Given the description of an element on the screen output the (x, y) to click on. 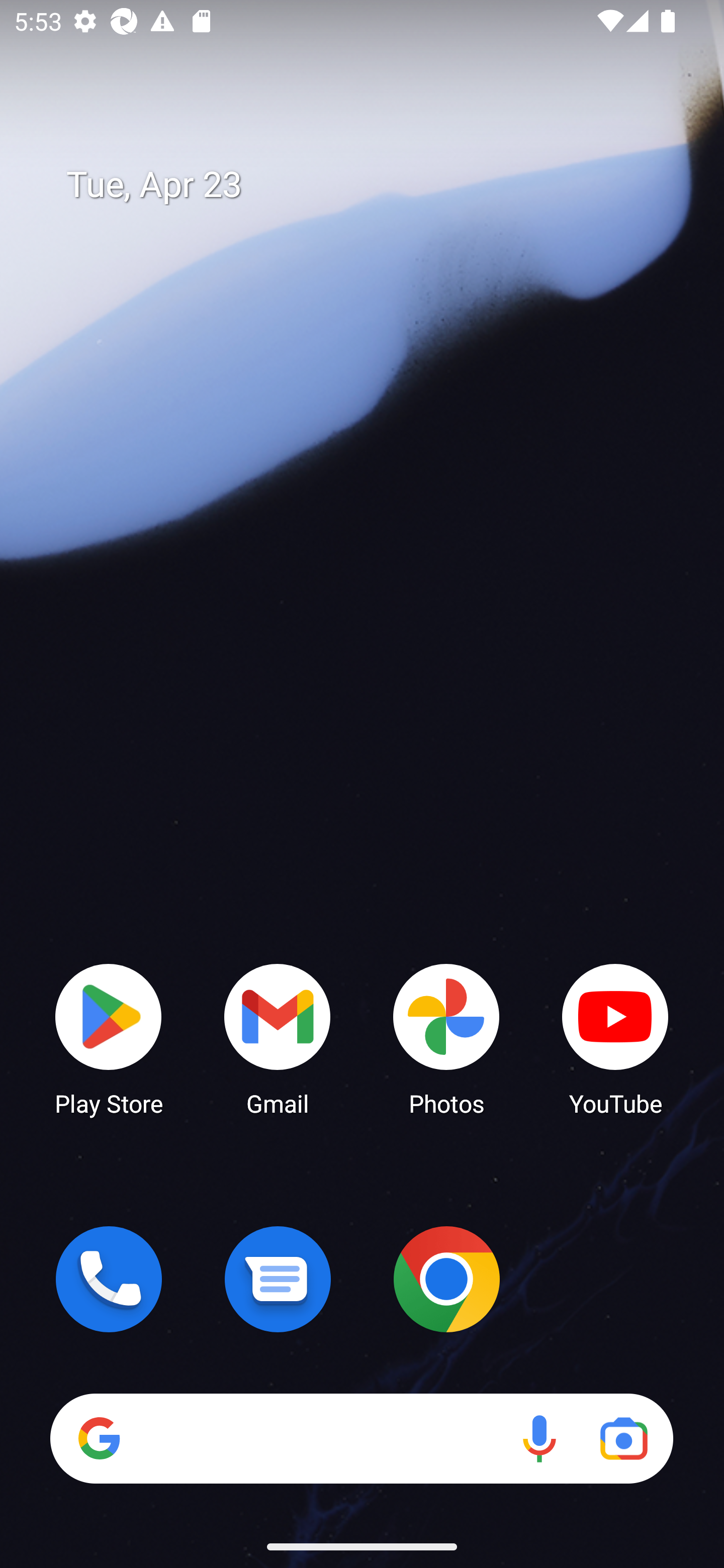
Tue, Apr 23 (375, 184)
Play Store (108, 1038)
Gmail (277, 1038)
Photos (445, 1038)
YouTube (615, 1038)
Phone (108, 1279)
Messages (277, 1279)
Chrome (446, 1279)
Search Voice search Google Lens (361, 1438)
Voice search (539, 1438)
Google Lens (623, 1438)
